Given the description of an element on the screen output the (x, y) to click on. 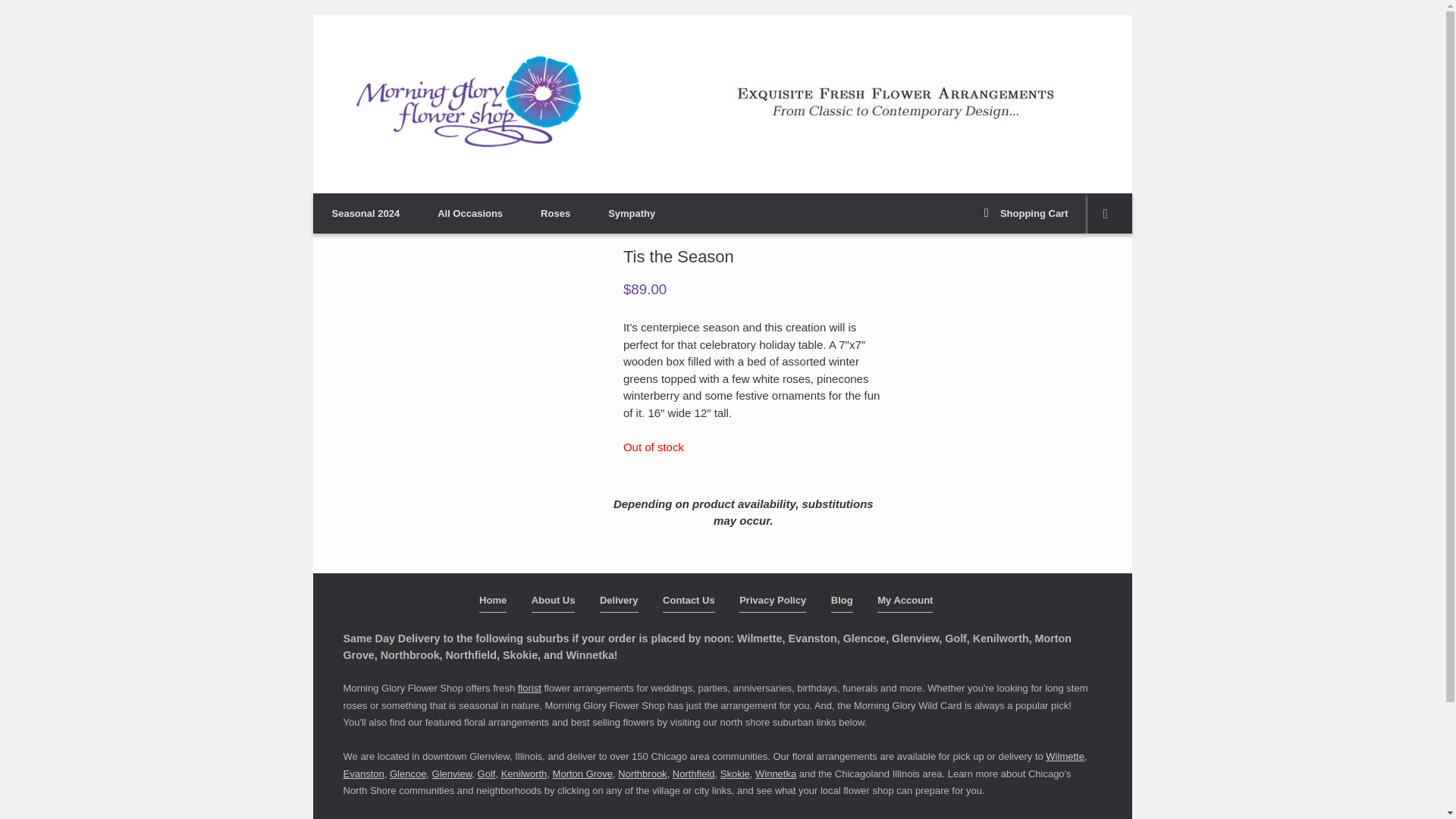
Kenilworth (523, 773)
Morning Glory Flower Shop (467, 103)
Northfield (693, 773)
Blog (842, 602)
Seasonal 2024 (366, 213)
Home (492, 602)
All Occasions (470, 213)
Fresh Flower Arrangements (898, 103)
Skokie (734, 773)
